Given the description of an element on the screen output the (x, y) to click on. 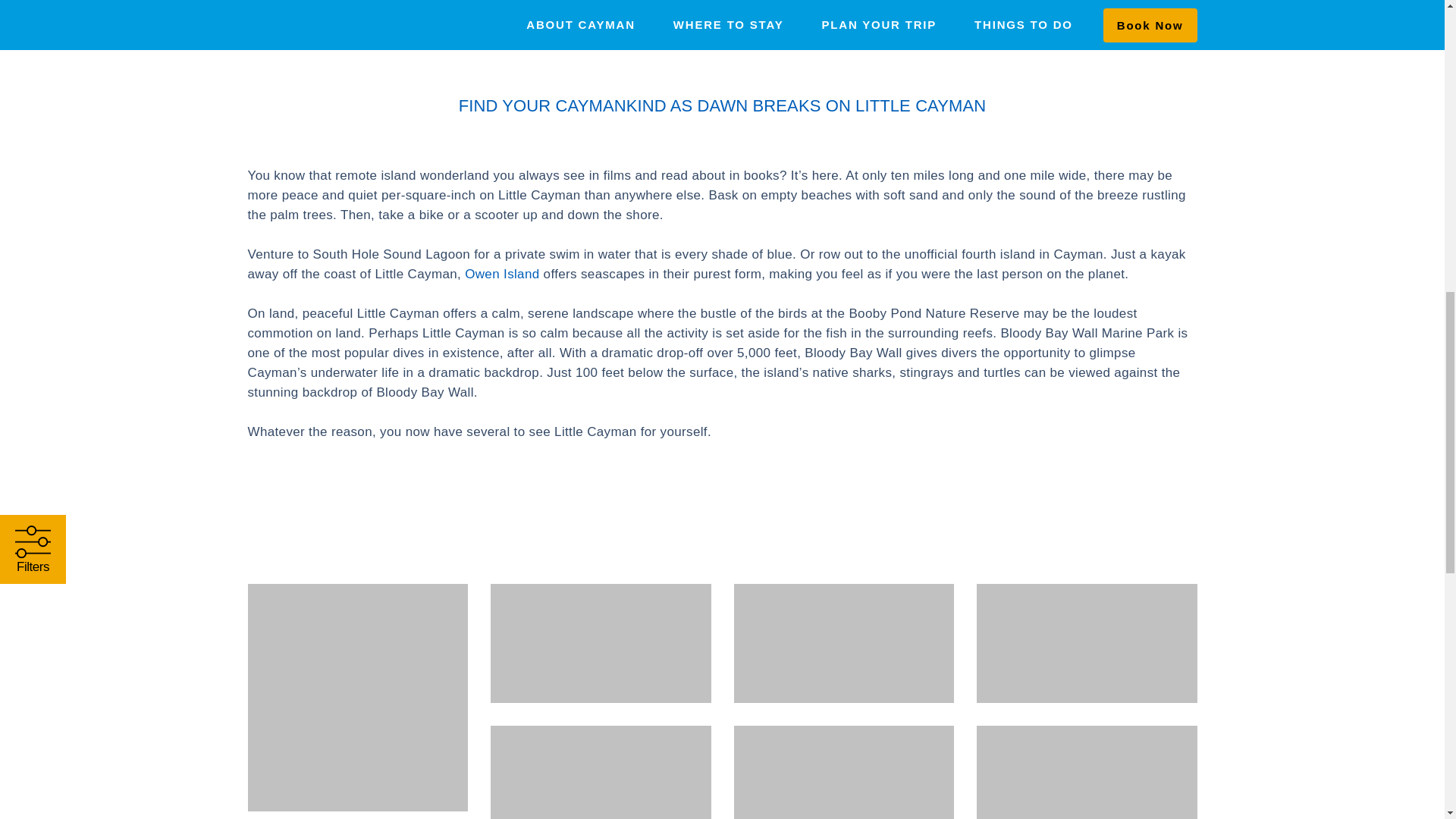
Home (261, 35)
About Cayman (333, 35)
